Given the description of an element on the screen output the (x, y) to click on. 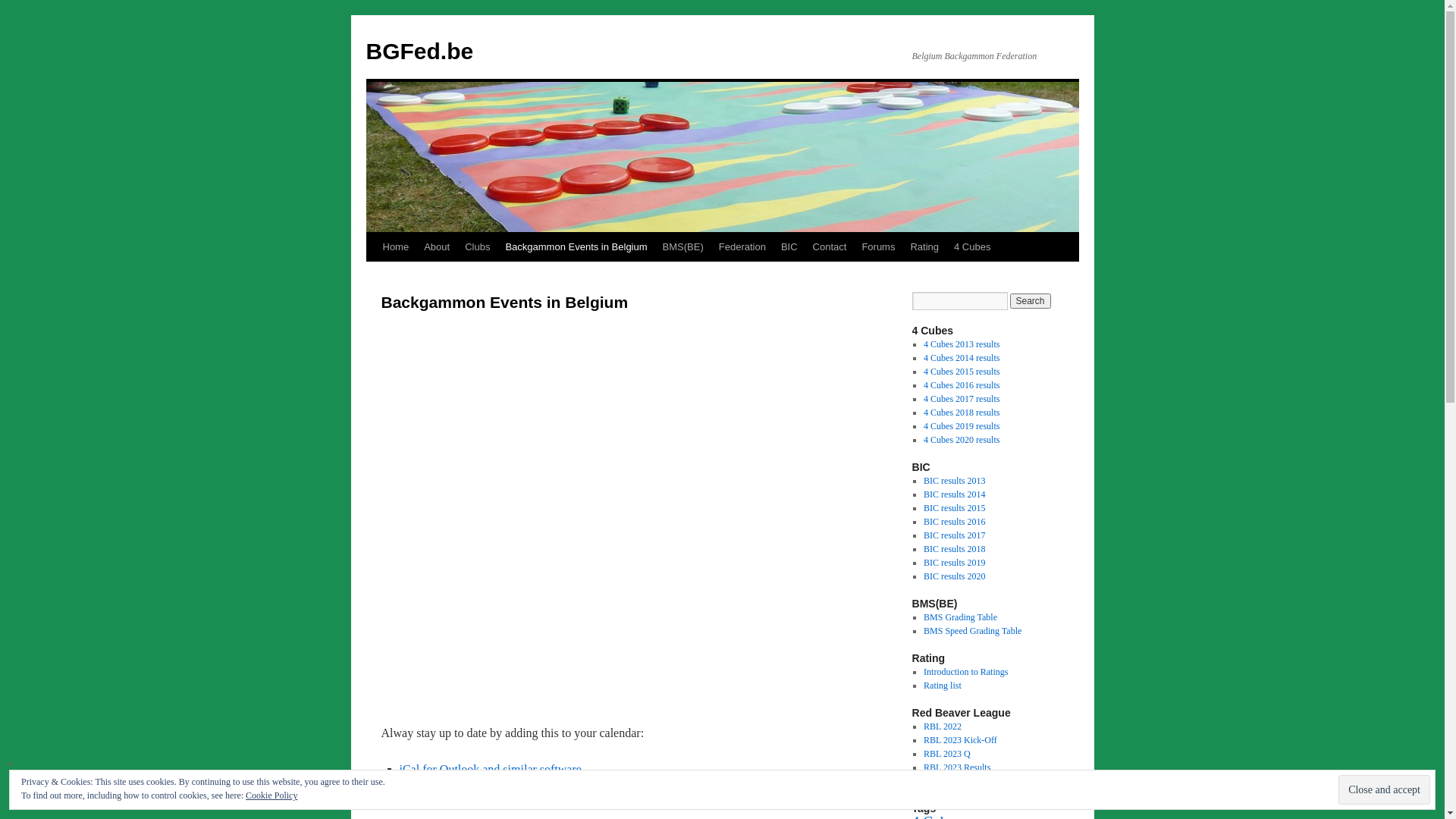
Close and accept Element type: text (1384, 789)
Rating list Element type: text (942, 685)
4 Cubes 2017 results Element type: text (961, 398)
RBL 2023 Q Element type: text (946, 753)
4 Cubes 2016 results Element type: text (961, 384)
RBL 2022 Element type: text (942, 726)
iCal for Outlook and similar software Element type: text (489, 768)
BIC results 2018 Element type: text (954, 548)
BMS Grading Table Element type: text (960, 616)
Skip to content Element type: text (372, 275)
BIC results 2013 Element type: text (954, 480)
Clubs Element type: text (477, 246)
Cookie Policy Element type: text (271, 795)
4 Cubes 2019 results Element type: text (961, 425)
BIC results 2016 Element type: text (954, 521)
BIC results 2017 Element type: text (954, 535)
Federation Element type: text (742, 246)
4 Cubes 2015 results Element type: text (961, 371)
BIC results 2020 Element type: text (954, 576)
RBL 2023 Results Element type: text (956, 767)
4 Cubes 2018 results Element type: text (961, 412)
4 Cubes 2014 results Element type: text (961, 357)
BIC results 2014 Element type: text (954, 494)
About Element type: text (436, 246)
RBL 2023 Kick-Off Element type: text (960, 739)
RBL 2023 Schedule Element type: text (960, 780)
BMS Speed Grading Table Element type: text (972, 630)
Forums Element type: text (877, 246)
BIC Element type: text (789, 246)
4 Cubes 2013 results Element type: text (961, 343)
Rating Element type: text (924, 246)
Search Element type: text (1030, 300)
Contact Element type: text (829, 246)
Backgammon Events in Belgium Element type: text (575, 246)
BIC results 2019 Element type: text (954, 562)
BMS(BE) Element type: text (683, 246)
4 Cubes 2020 results Element type: text (961, 439)
BGFed.be Element type: text (419, 50)
BIC results 2015 Element type: text (954, 507)
Introduction to Ratings Element type: text (965, 671)
4 Cubes Element type: text (971, 246)
Home Element type: text (395, 246)
